Given the description of an element on the screen output the (x, y) to click on. 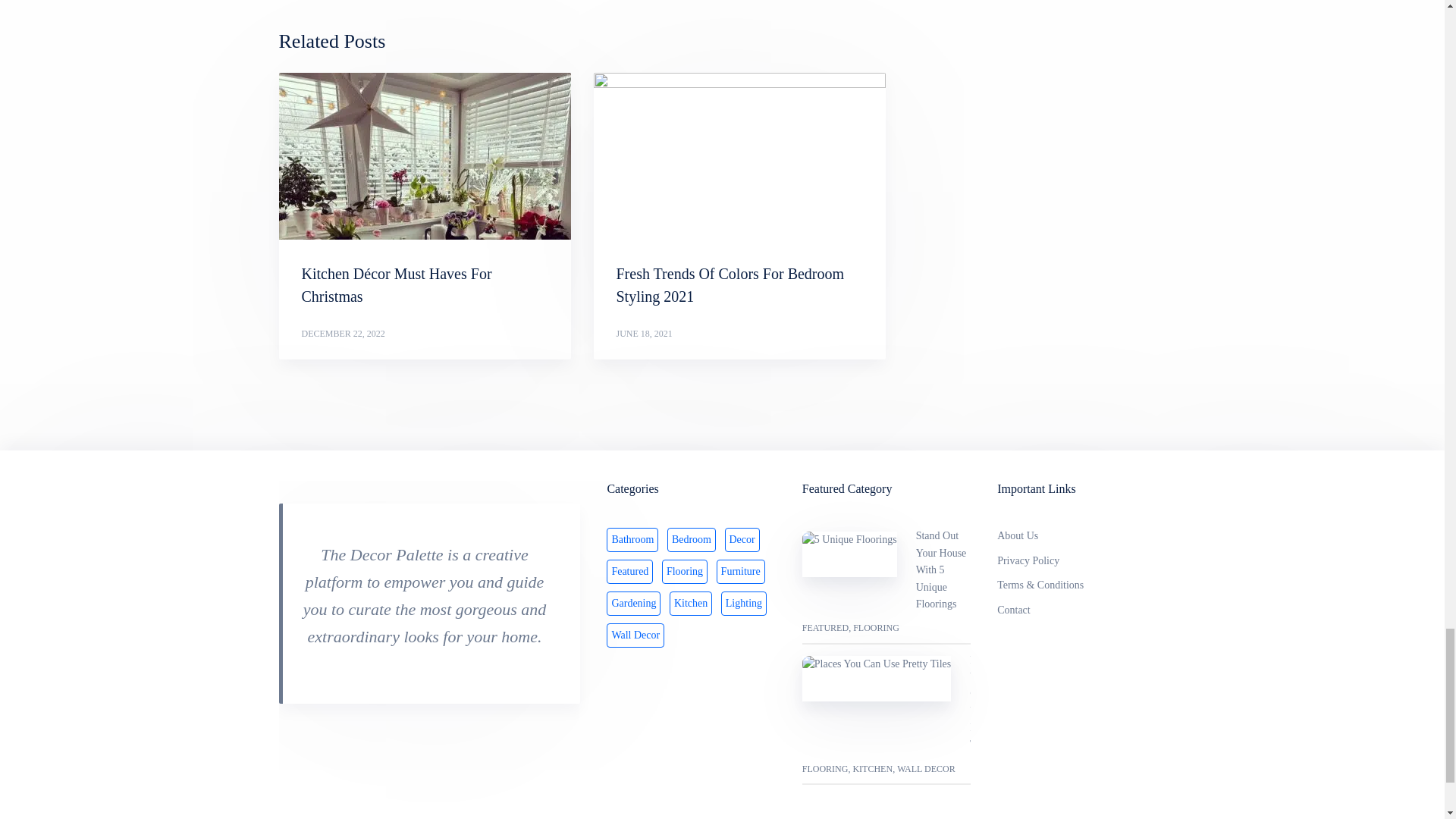
Fresh Trends Of Colors For Bedroom Styling 2021 (729, 284)
Fresh Trends Of Colors For Bedroom Styling 2021 (729, 284)
Fresh Trends Of Colors For Bedroom Styling 2021 (738, 155)
